Given the description of an element on the screen output the (x, y) to click on. 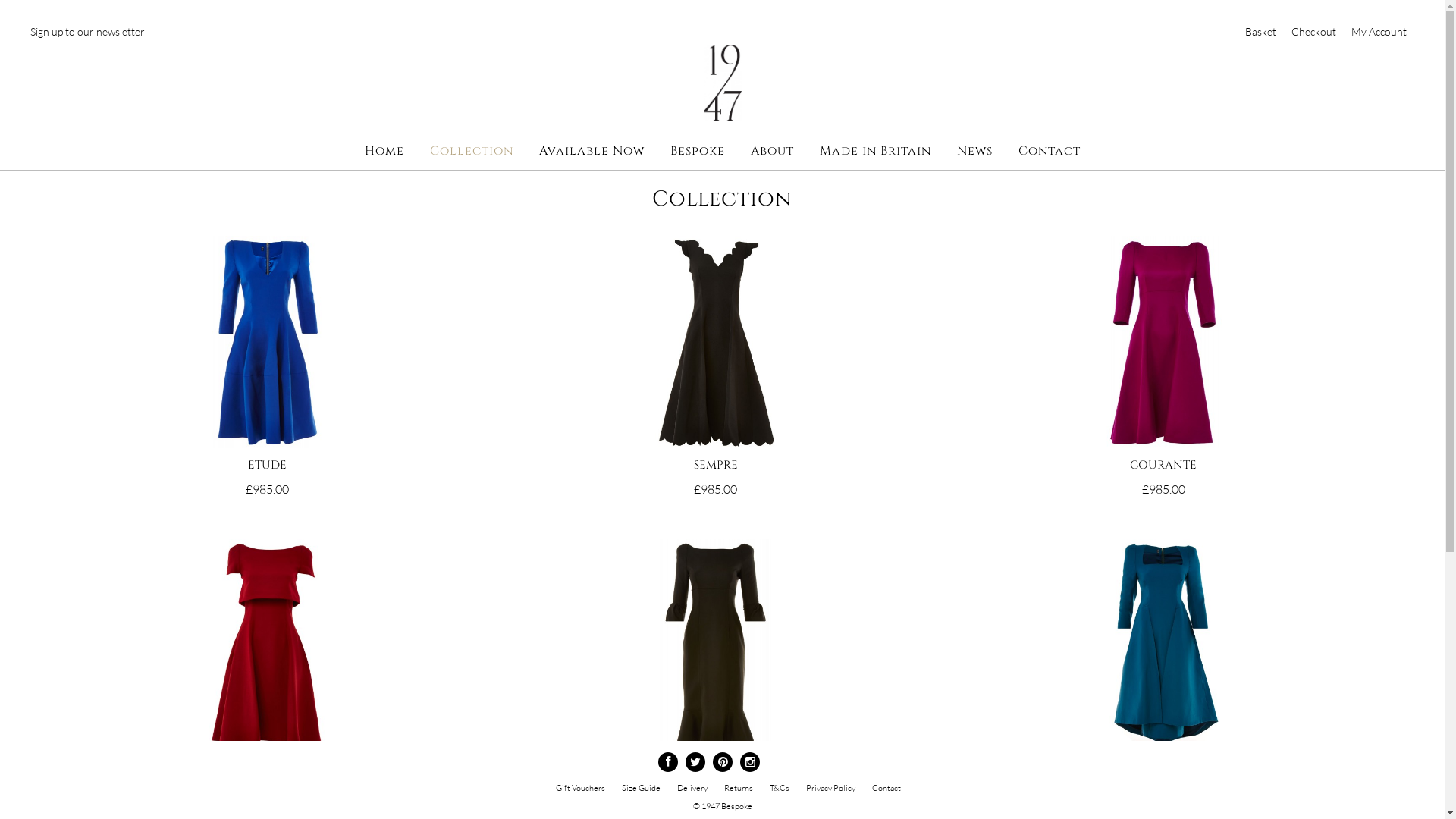
About Element type: text (771, 150)
My Account Element type: text (1378, 31)
Contact Element type: text (1048, 150)
Bespoke Element type: text (697, 150)
Made in Britain Element type: text (874, 150)
Delivery Element type: text (691, 787)
Returns Element type: text (737, 787)
Checkout Element type: text (1313, 31)
News Element type: text (974, 150)
Contact Element type: text (886, 787)
Sign up to our newsletter Element type: text (87, 31)
Collection Element type: text (470, 150)
Privacy Policy Element type: text (829, 787)
Home Element type: text (383, 150)
T&Cs Element type: text (778, 787)
Basket Element type: text (1260, 31)
Size Guide Element type: text (640, 787)
Available Now Element type: text (590, 150)
Gift Vouchers Element type: text (579, 787)
